Given the description of an element on the screen output the (x, y) to click on. 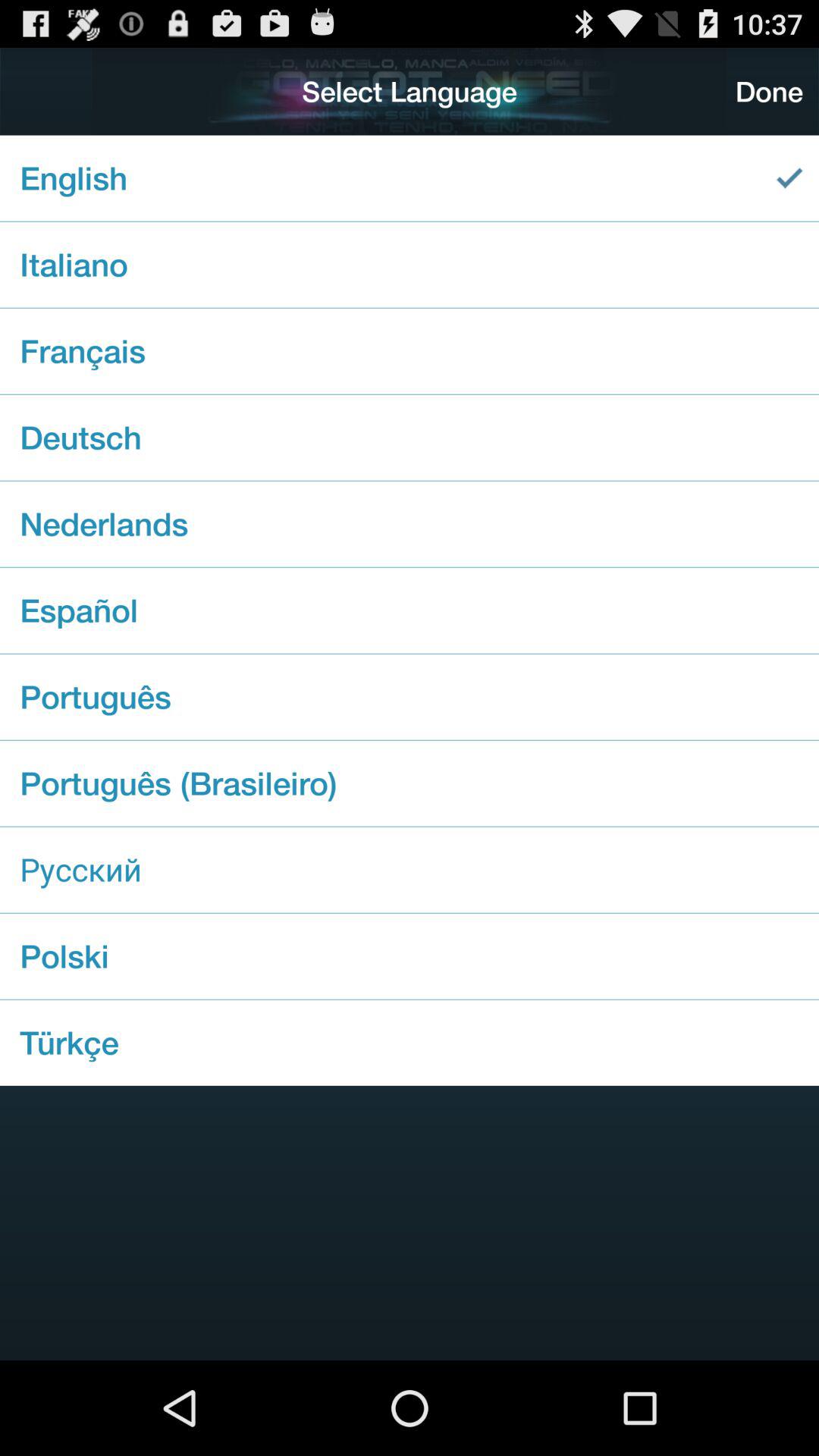
swipe until deutsch checkbox (409, 437)
